Given the description of an element on the screen output the (x, y) to click on. 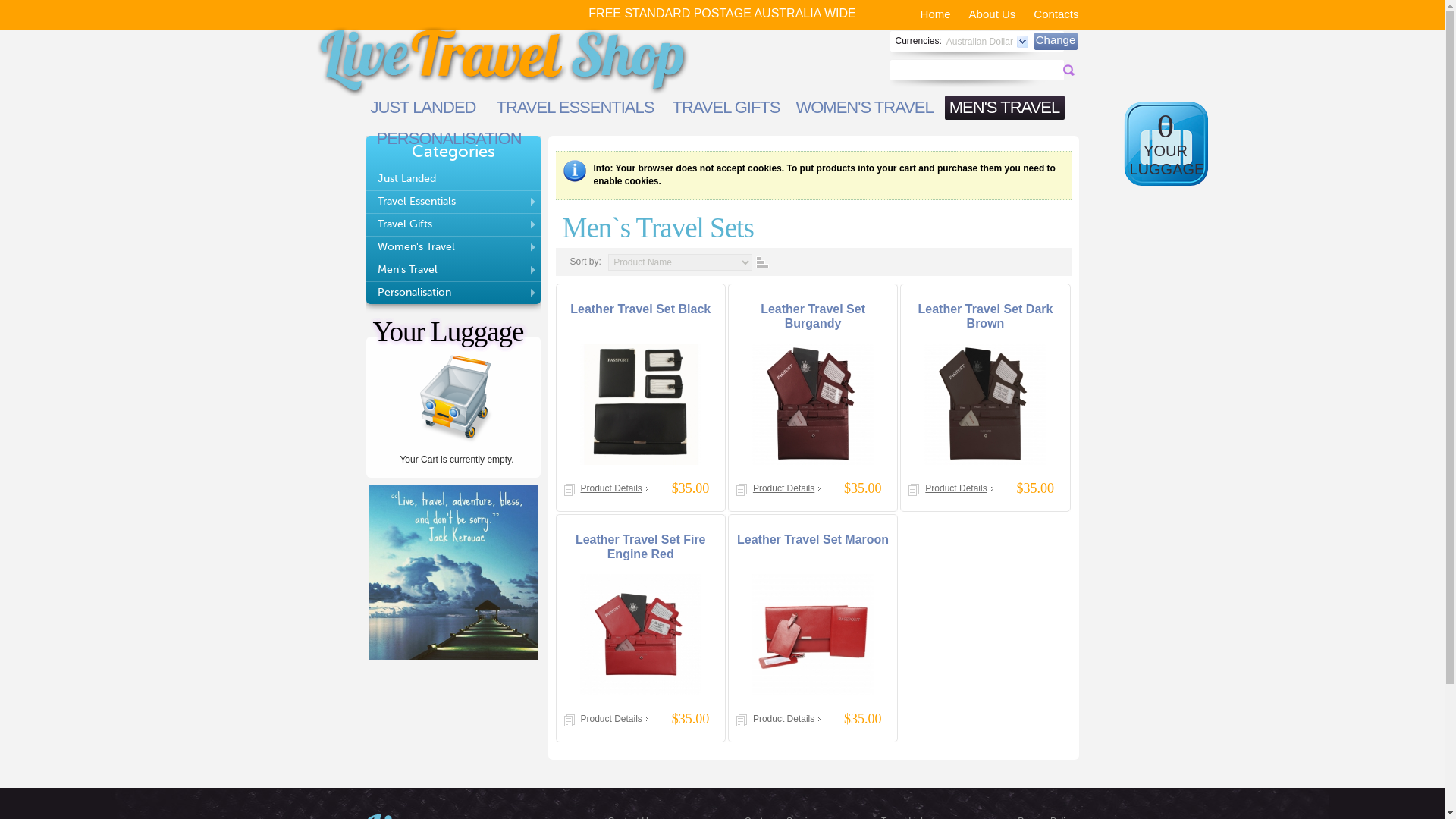
About Us Element type: text (992, 14)
Your Cart is currently empty. Add product. Element type: hover (456, 400)
Leather Travel Set Dark Brown Element type: text (985, 315)
Women's Travel Element type: text (452, 246)
Leather Travel Set Maroon Element type: hover (812, 634)
Product Details Element type: text (786, 718)
MEN'S TRAVEL Element type: text (1004, 107)
Leather Travel Set Maroon Element type: text (812, 539)
Leather Travel Set Burgandy Element type: hover (812, 403)
Travel Essentials Element type: text (452, 201)
Just Landed Element type: text (452, 178)
Men's Travel Element type: text (452, 269)
Ascending order Element type: hover (761, 262)
TRAVEL ESSENTIALS Element type: text (574, 107)
TRAVEL GIFTS Element type: text (725, 107)
WOMEN'S TRAVEL Element type: text (864, 107)
Leather Travel Set Black Element type: hover (640, 403)
Change Element type: text (1055, 41)
Travel Gifts Element type: text (452, 224)
Product Details Element type: text (614, 488)
Leather Travel Set Dark Brown Element type: hover (984, 403)
Leather Travel Set Fire Engine Red Element type: text (640, 546)
Product Details Element type: text (614, 718)
Contacts Element type: text (1055, 14)
Home Element type: text (935, 14)
0 Element type: text (1165, 124)
Leather Travel Set Burgandy Element type: text (812, 315)
JUST LANDED Element type: text (422, 107)
Leather Travel Set Black Element type: text (640, 308)
Personalisation Element type: text (452, 292)
PERSONALISATION Element type: text (448, 138)
Product Details Element type: text (958, 488)
Product Details Element type: text (786, 488)
Leather Travel Set Fire Engine Red Element type: hover (640, 634)
